Given the description of an element on the screen output the (x, y) to click on. 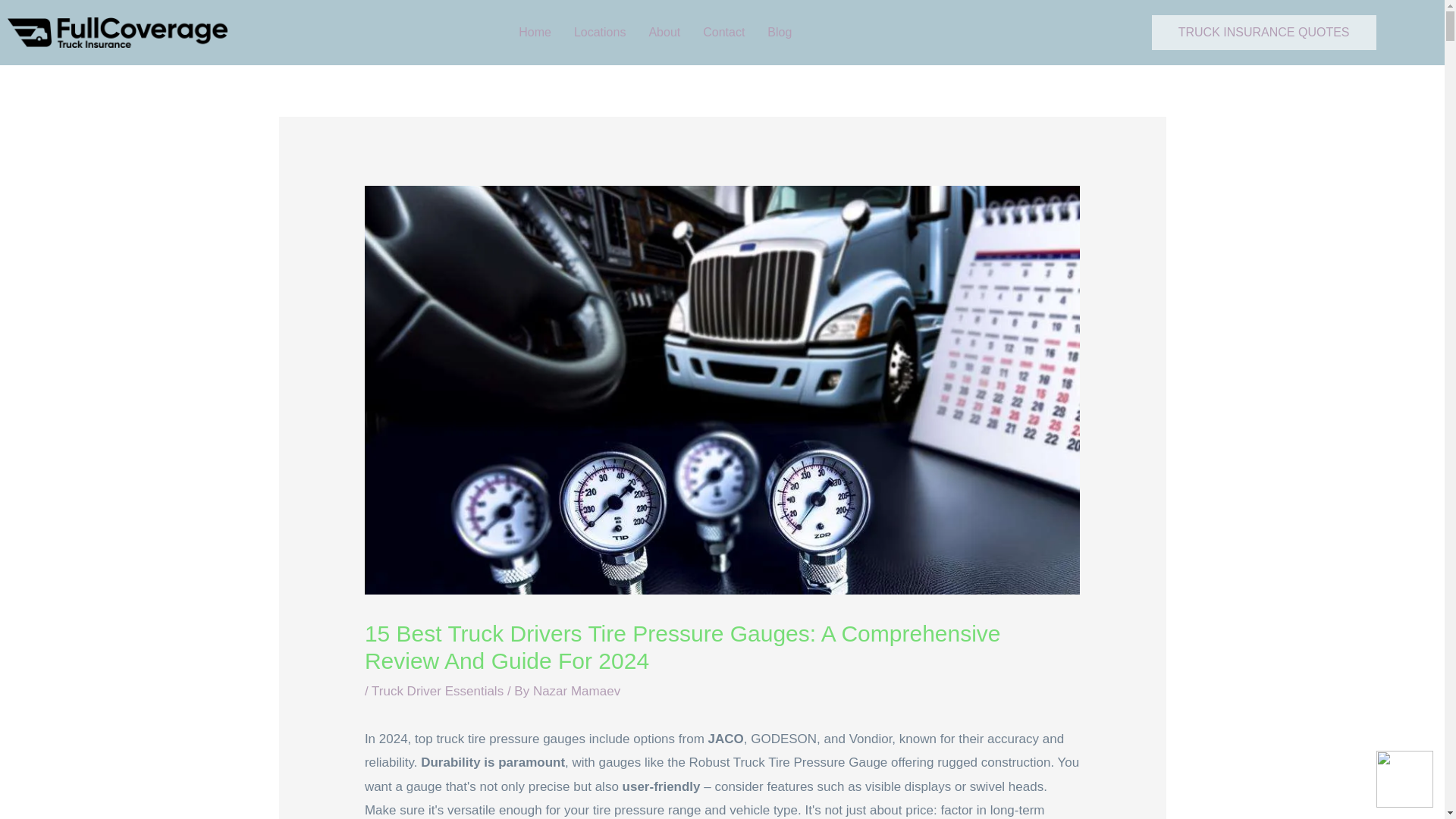
View all posts by Nazar Mamaev (576, 690)
Locations (599, 32)
About (664, 32)
Home (534, 32)
Contact (723, 32)
Blog (782, 32)
Nazar Mamaev (576, 690)
Truck Driver Essentials (437, 690)
TRUCK INSURANCE QUOTES (1263, 32)
